Given the description of an element on the screen output the (x, y) to click on. 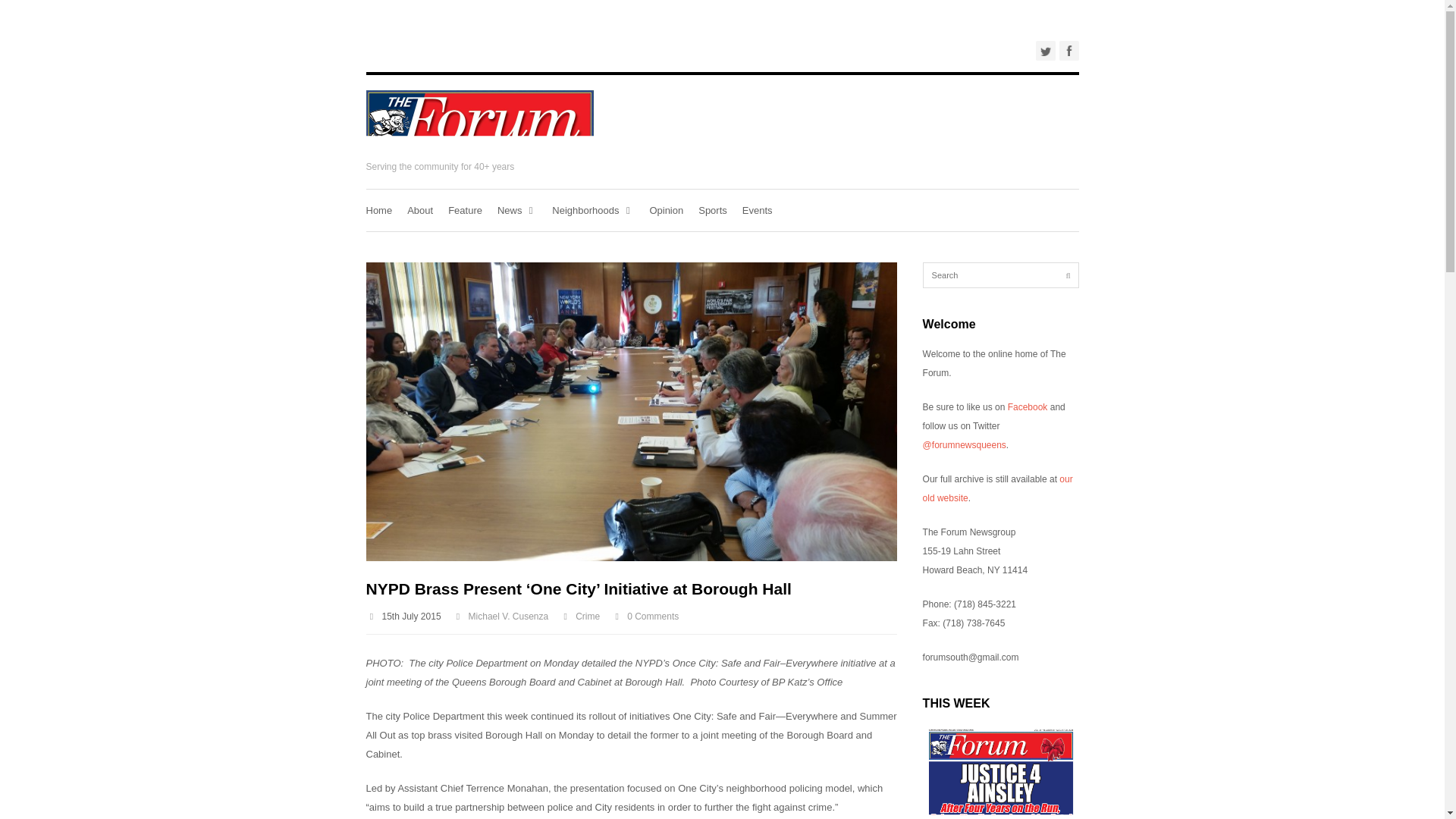
News (517, 209)
The Forum Newsgroup (479, 147)
facebook (1068, 50)
Michael V. Cusenza (508, 615)
0 Comments (652, 615)
twitter (1045, 50)
Neighborhoods (592, 209)
Posts by Michael V. Cusenza (508, 615)
Crime (587, 615)
